Given the description of an element on the screen output the (x, y) to click on. 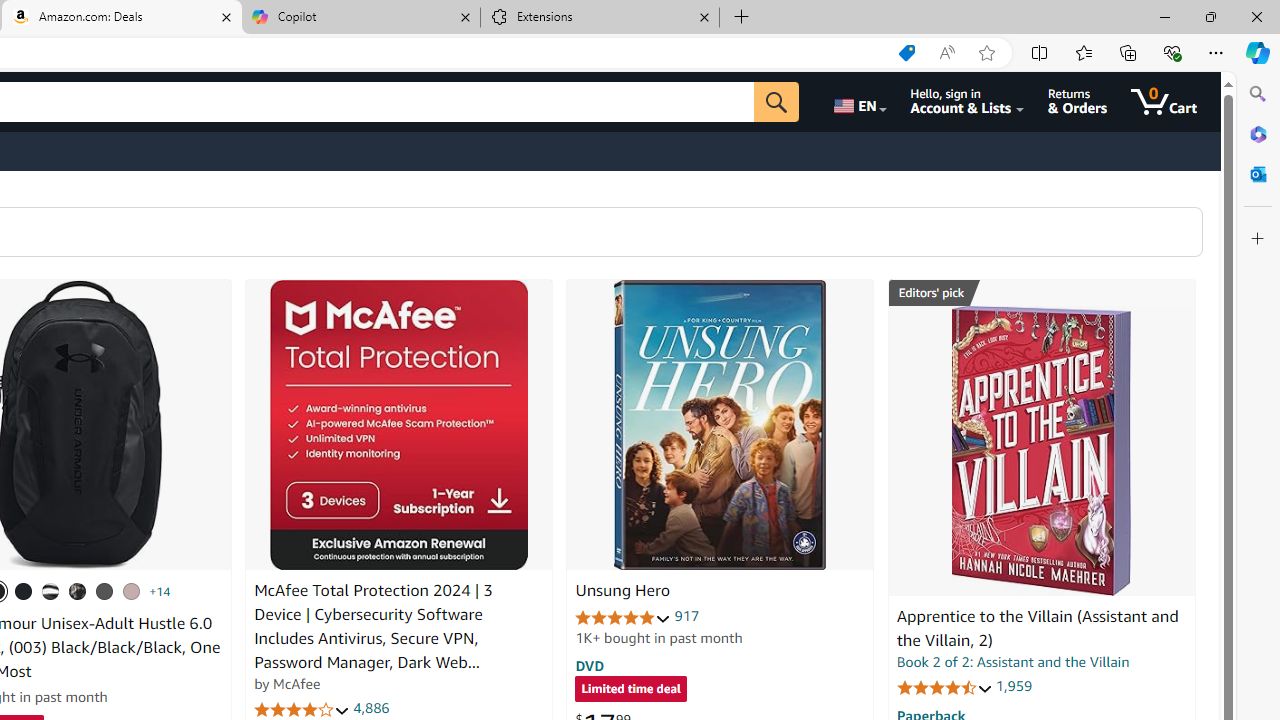
Limited time deal (630, 690)
Customize (1258, 239)
917 (687, 616)
Editors' pick Best Science Fiction & Fantasy (1041, 293)
+14 (159, 591)
Apprentice to the Villain (Assistant and the Villain, 2) (1041, 451)
Book 2 of 2: Assistant and the Villain (1013, 662)
4,886 (371, 708)
(001) Black / Black / Metallic Gold (24, 591)
4.1 out of 5 stars (301, 709)
Go (776, 101)
Hello, sign in Account & Lists (967, 101)
